Given the description of an element on the screen output the (x, y) to click on. 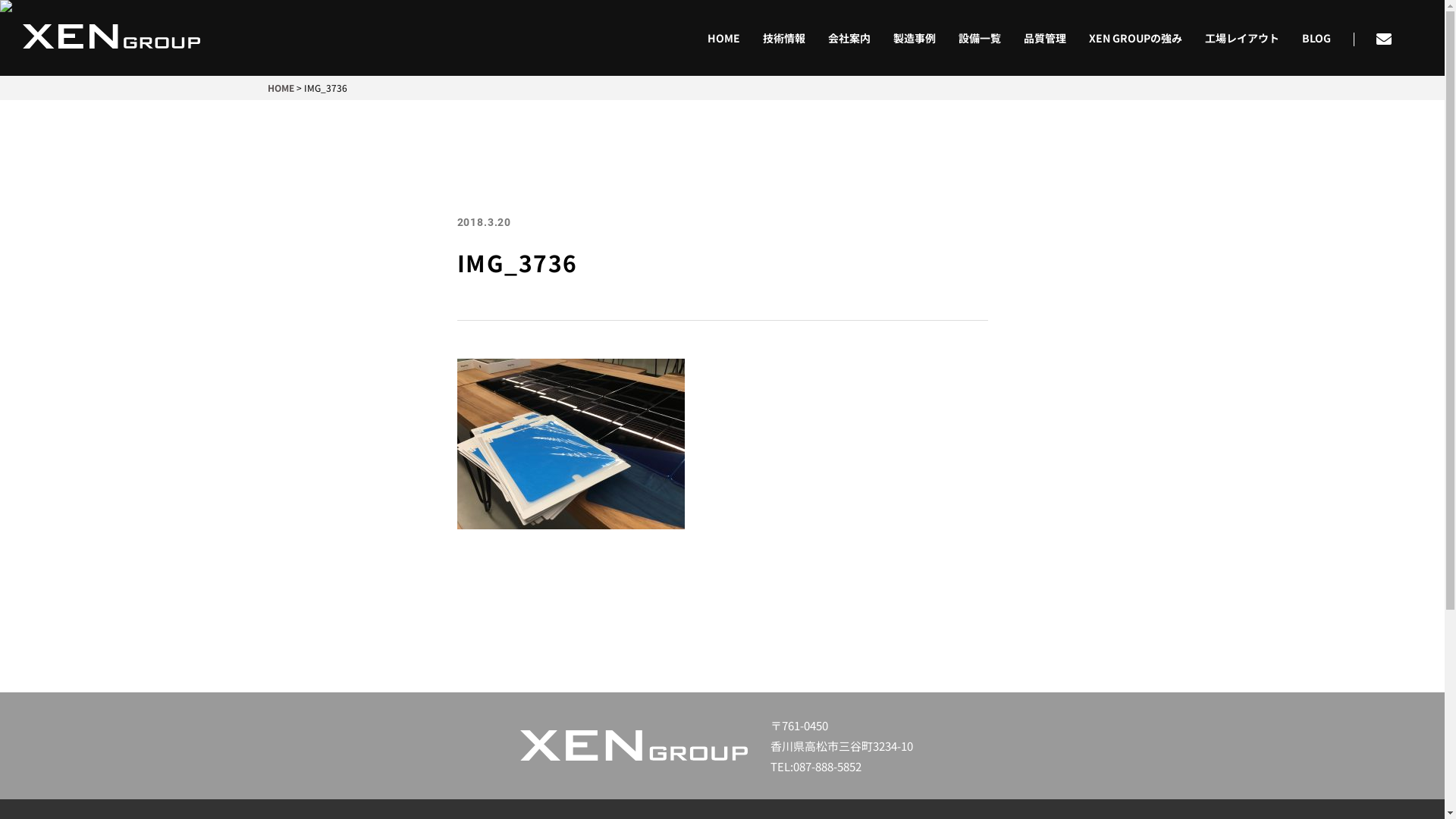
BLOG Element type: text (1316, 37)
HOME Element type: text (279, 87)
HOME Element type: text (723, 37)
